Given the description of an element on the screen output the (x, y) to click on. 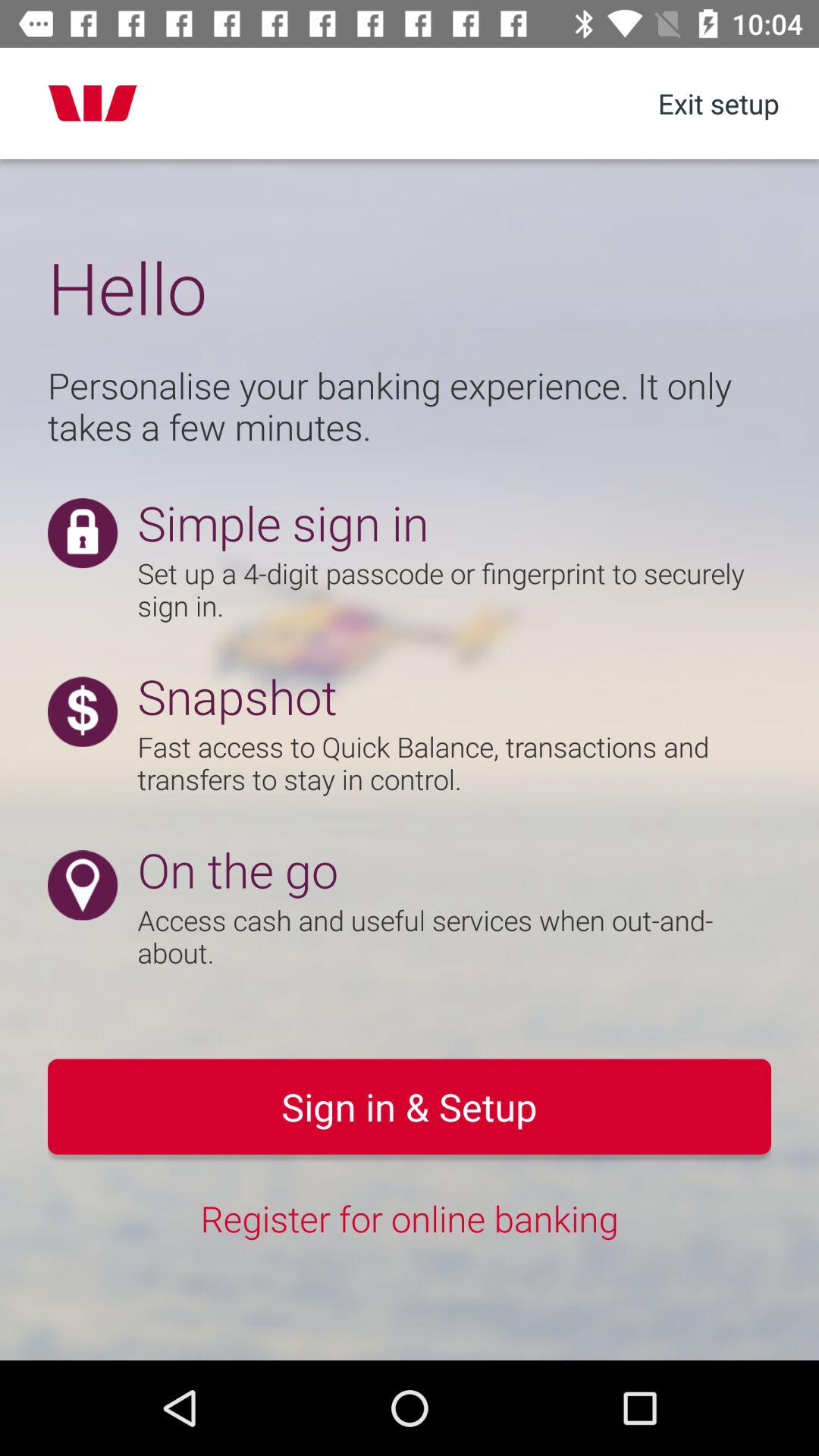
open the icon below the sign in & setup icon (409, 1218)
